Given the description of an element on the screen output the (x, y) to click on. 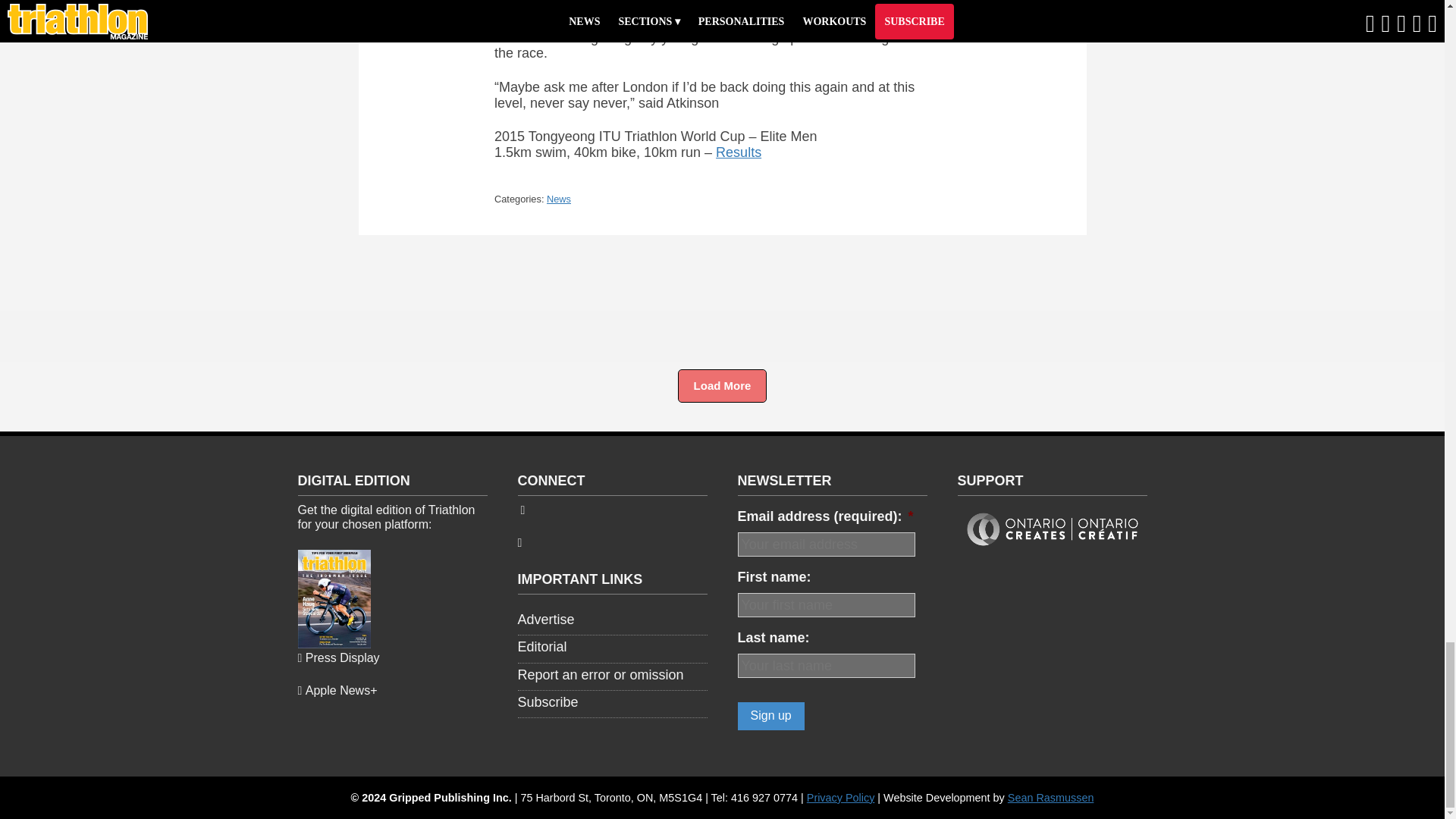
News (558, 198)
Report an error or omission (599, 674)
Sign up (769, 715)
Editorial (541, 646)
Results (738, 151)
Subscribe (547, 702)
Press Display (337, 657)
Ontario Creates (1051, 550)
Load More (722, 386)
Advertise (544, 619)
